Given the description of an element on the screen output the (x, y) to click on. 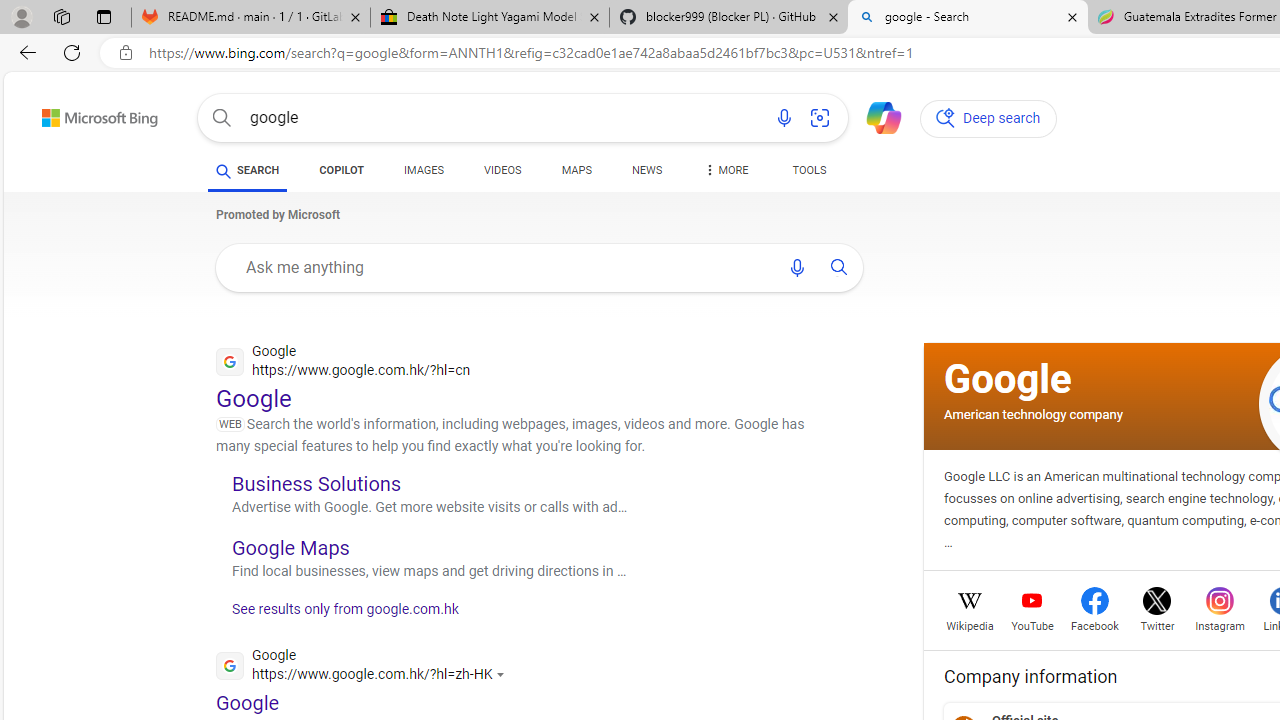
Refresh (72, 52)
COPILOT (341, 170)
Wikipedia (969, 624)
Search button (221, 117)
Search using an image (820, 117)
IMAGES (424, 173)
Google (1008, 378)
SEARCH (247, 170)
Ask me anything (502, 267)
Back to Bing search (87, 113)
Business Solutions (316, 483)
Actions for this site (503, 673)
Back (24, 52)
